Given the description of an element on the screen output the (x, y) to click on. 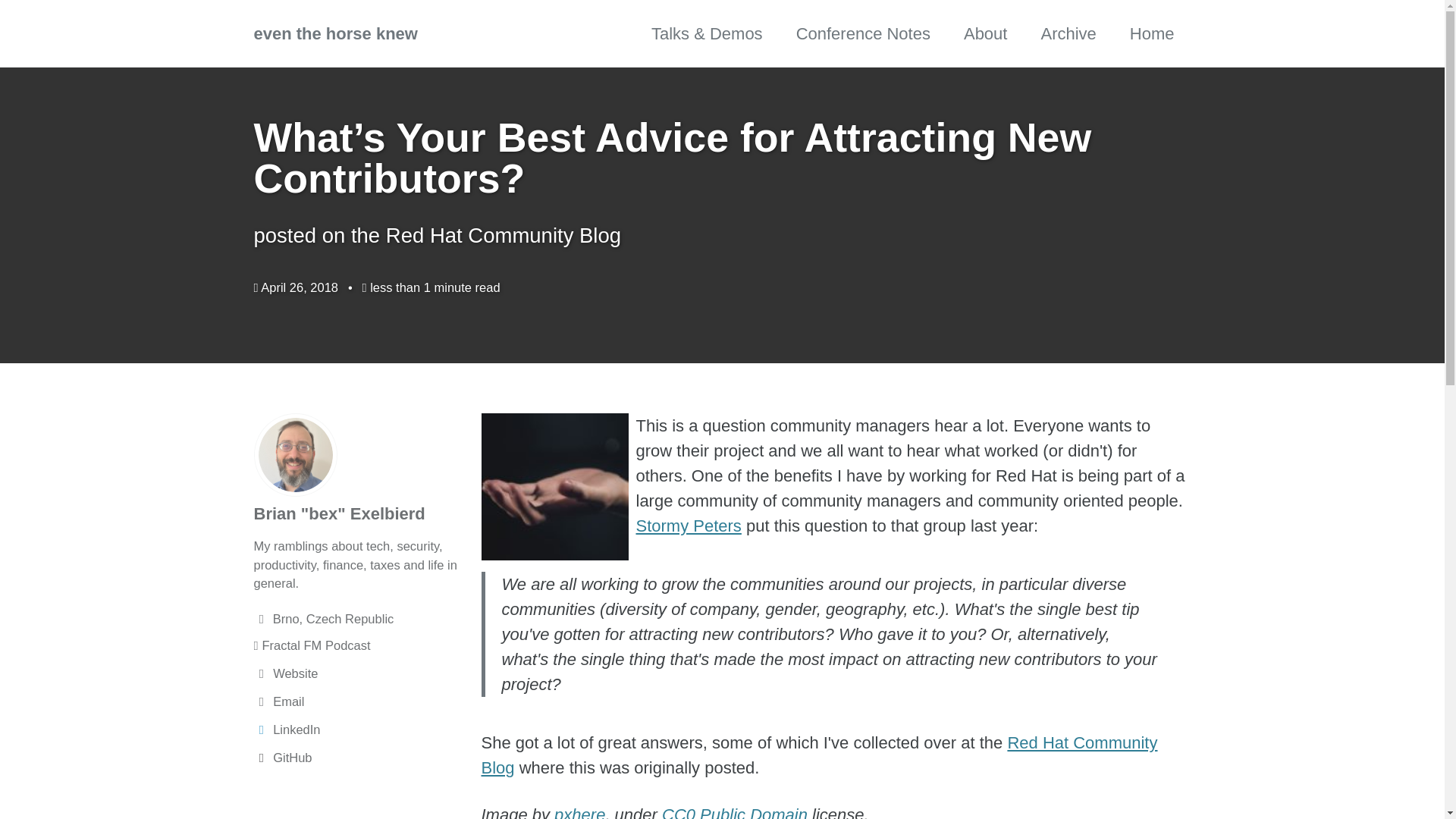
even the horse knew (334, 33)
LinkedIn (358, 730)
Red Hat Community Blog (818, 755)
Fractal FM Podcast (358, 645)
Website (358, 673)
Home (1151, 33)
Email (358, 701)
GitHub (358, 757)
Conference Notes (863, 33)
pxhere (579, 812)
Archive (1068, 33)
Stormy Peters (687, 525)
About (985, 33)
CC0 Public Domain (735, 812)
Brian "bex" Exelbierd (339, 513)
